Given the description of an element on the screen output the (x, y) to click on. 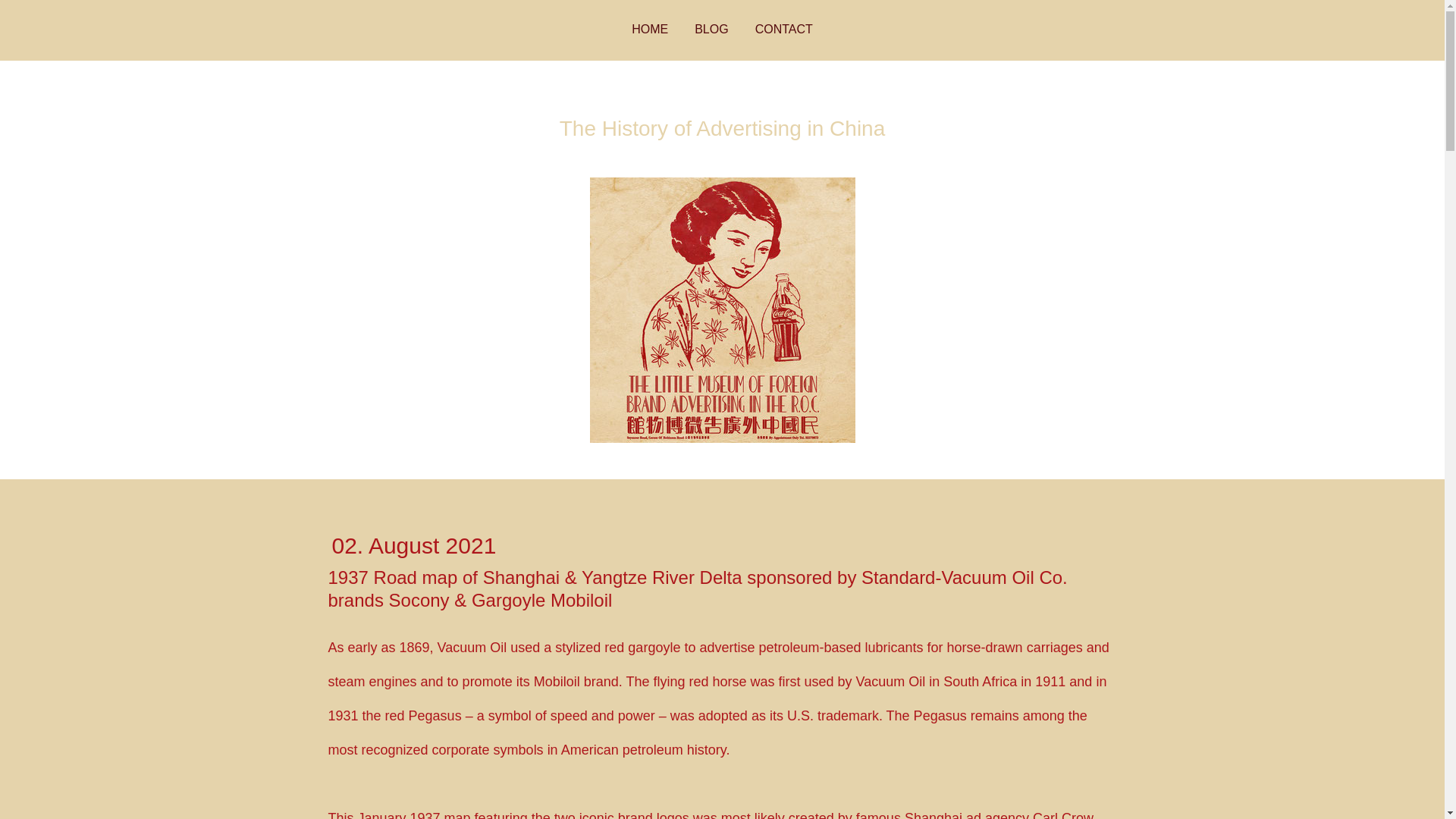
The History of Advertising in China (721, 128)
BLOG (710, 29)
HOME (649, 29)
CONTACT (784, 29)
